Given the description of an element on the screen output the (x, y) to click on. 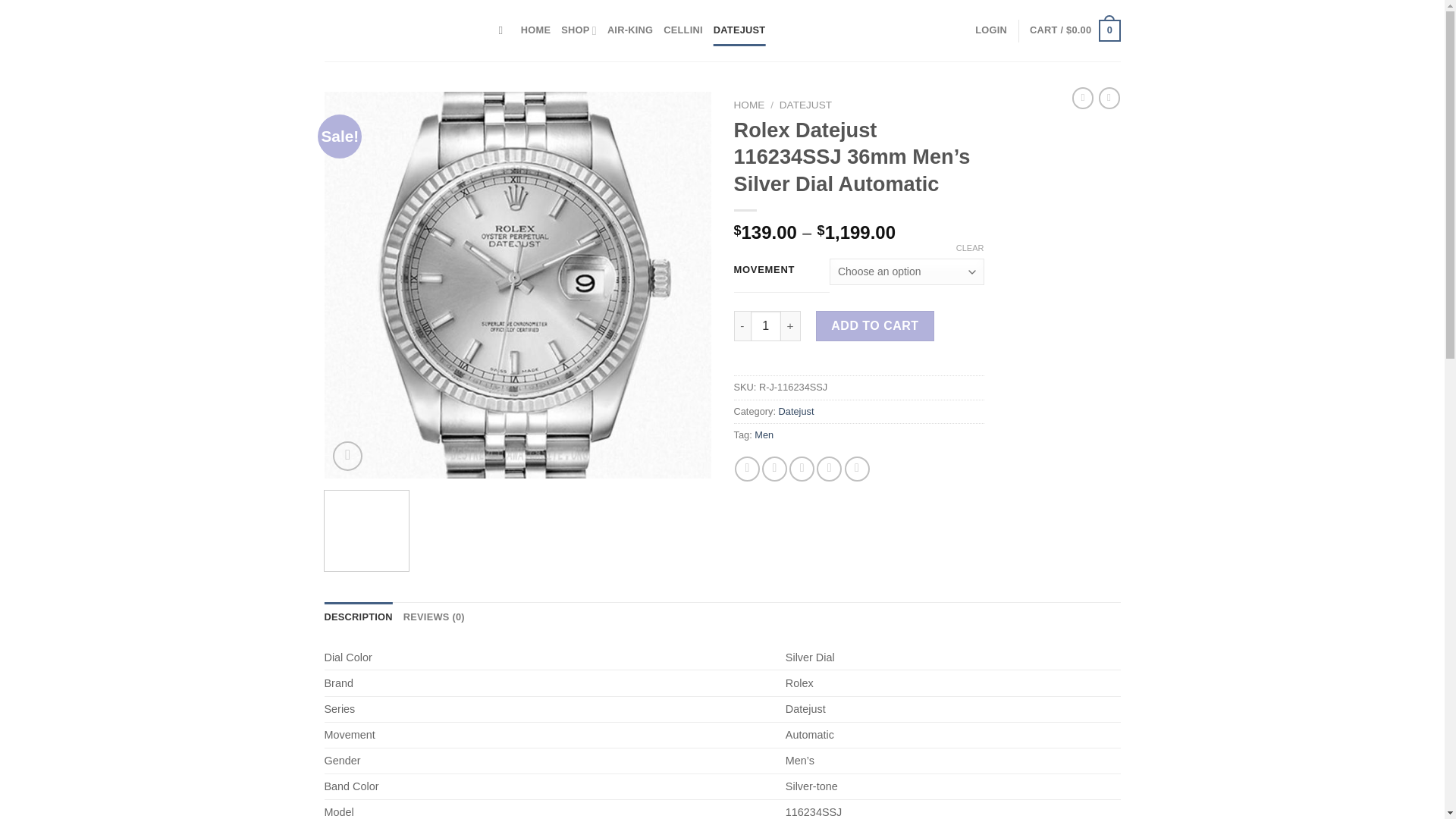
LOGIN (991, 30)
Cart (1074, 30)
AIR-KING (629, 30)
CELLINI (683, 30)
Qty (765, 326)
Email to a Friend (801, 468)
1 (765, 326)
HOME (749, 104)
